Given the description of an element on the screen output the (x, y) to click on. 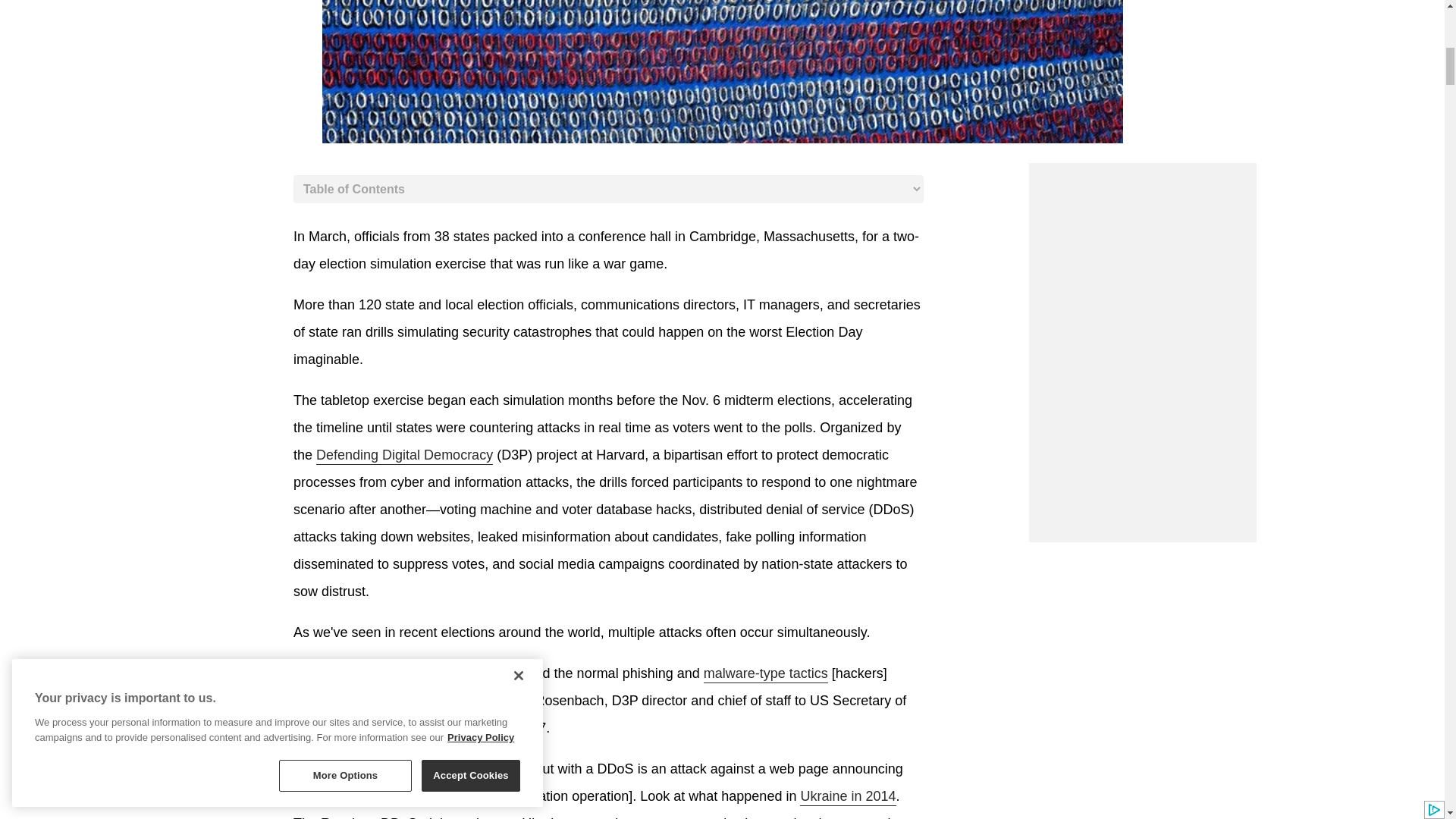
3rd party ad content (1141, 447)
3rd party ad content (1141, 257)
